Given the description of an element on the screen output the (x, y) to click on. 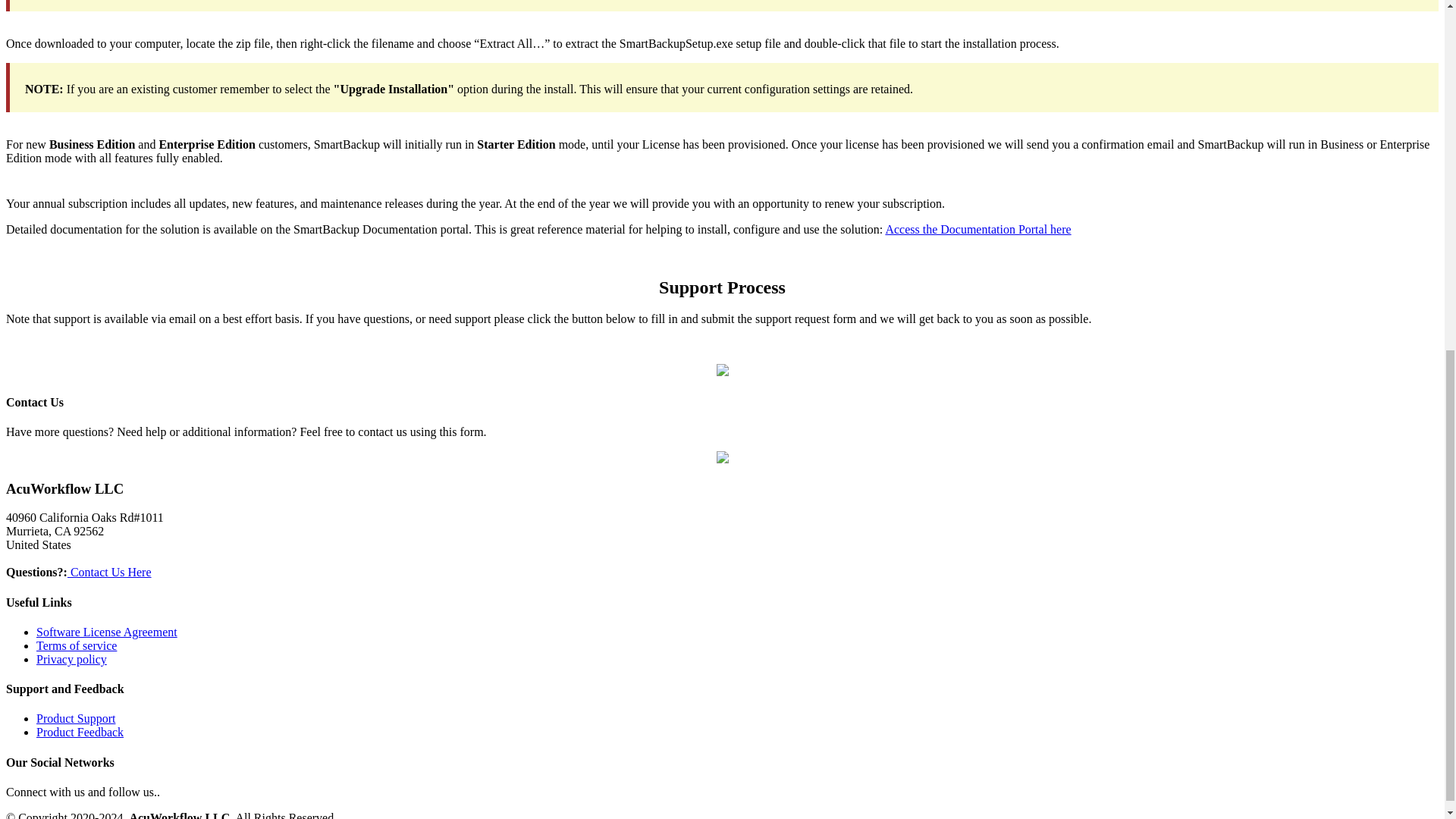
Product Feedback (79, 731)
Access the Documentation Portal here (977, 228)
Privacy policy (71, 658)
Terms of service (76, 645)
Product Support (75, 717)
 Contact Us Here (108, 571)
Software License Agreement (106, 631)
